Given the description of an element on the screen output the (x, y) to click on. 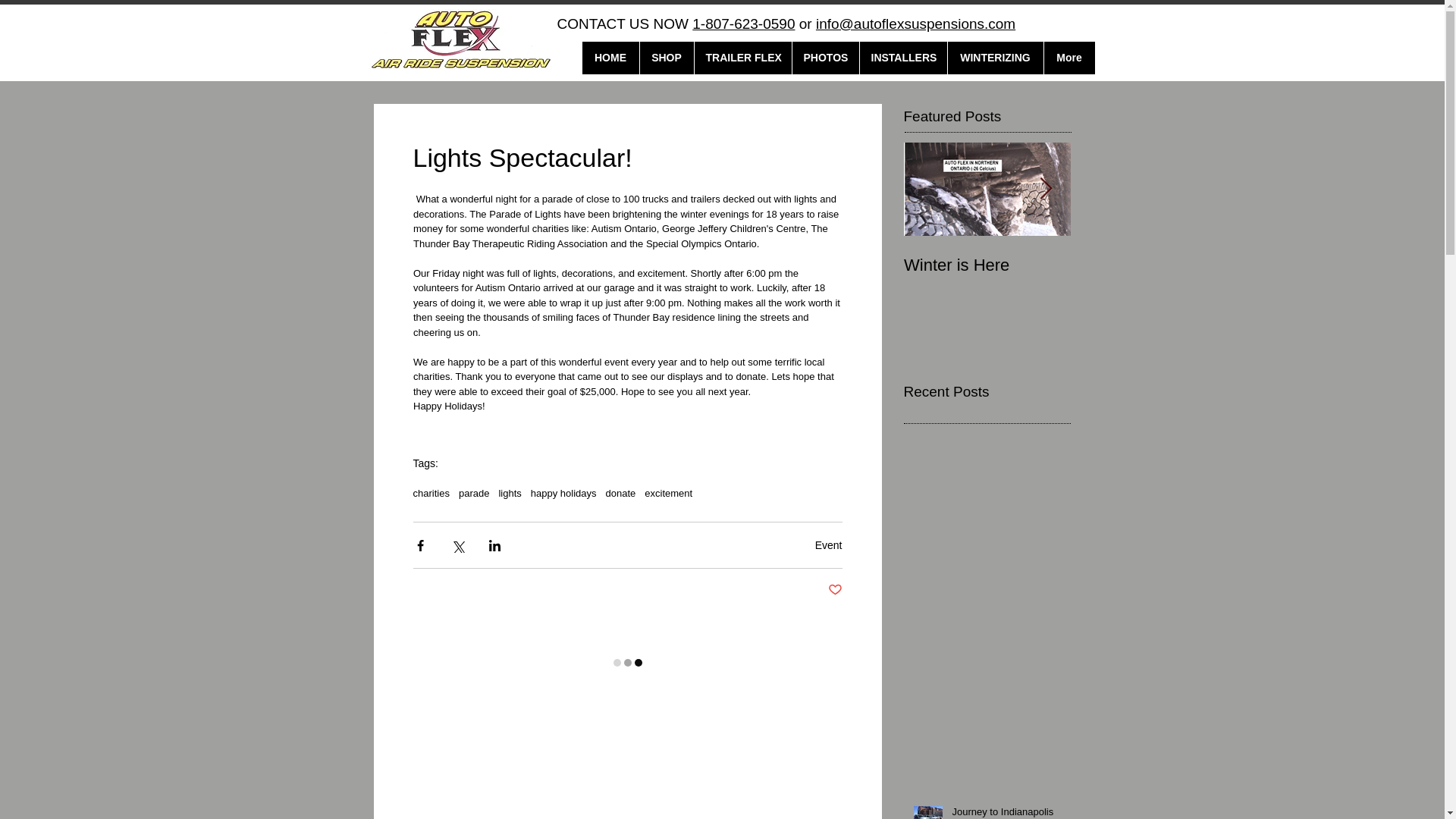
INSTALLERS (902, 57)
charities (430, 492)
TRAILER FLEX (741, 57)
SHOP (666, 57)
lights (509, 492)
Post not marked as liked (835, 590)
happy holidays (563, 492)
PHOTOS (825, 57)
HOME (610, 57)
Winter is Here (987, 265)
